Given the description of an element on the screen output the (x, y) to click on. 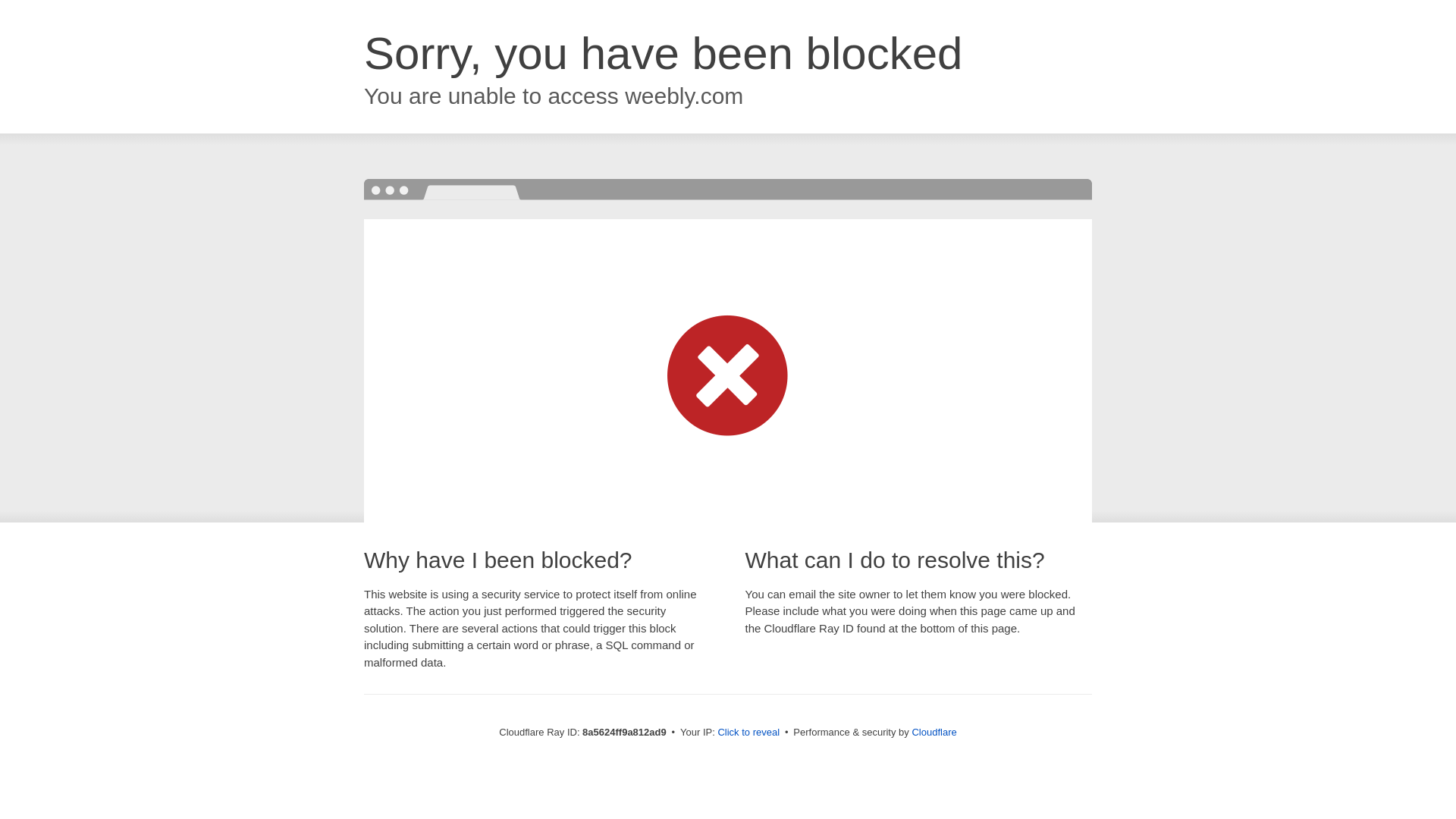
Cloudflare (933, 731)
Click to reveal (747, 732)
